Given the description of an element on the screen output the (x, y) to click on. 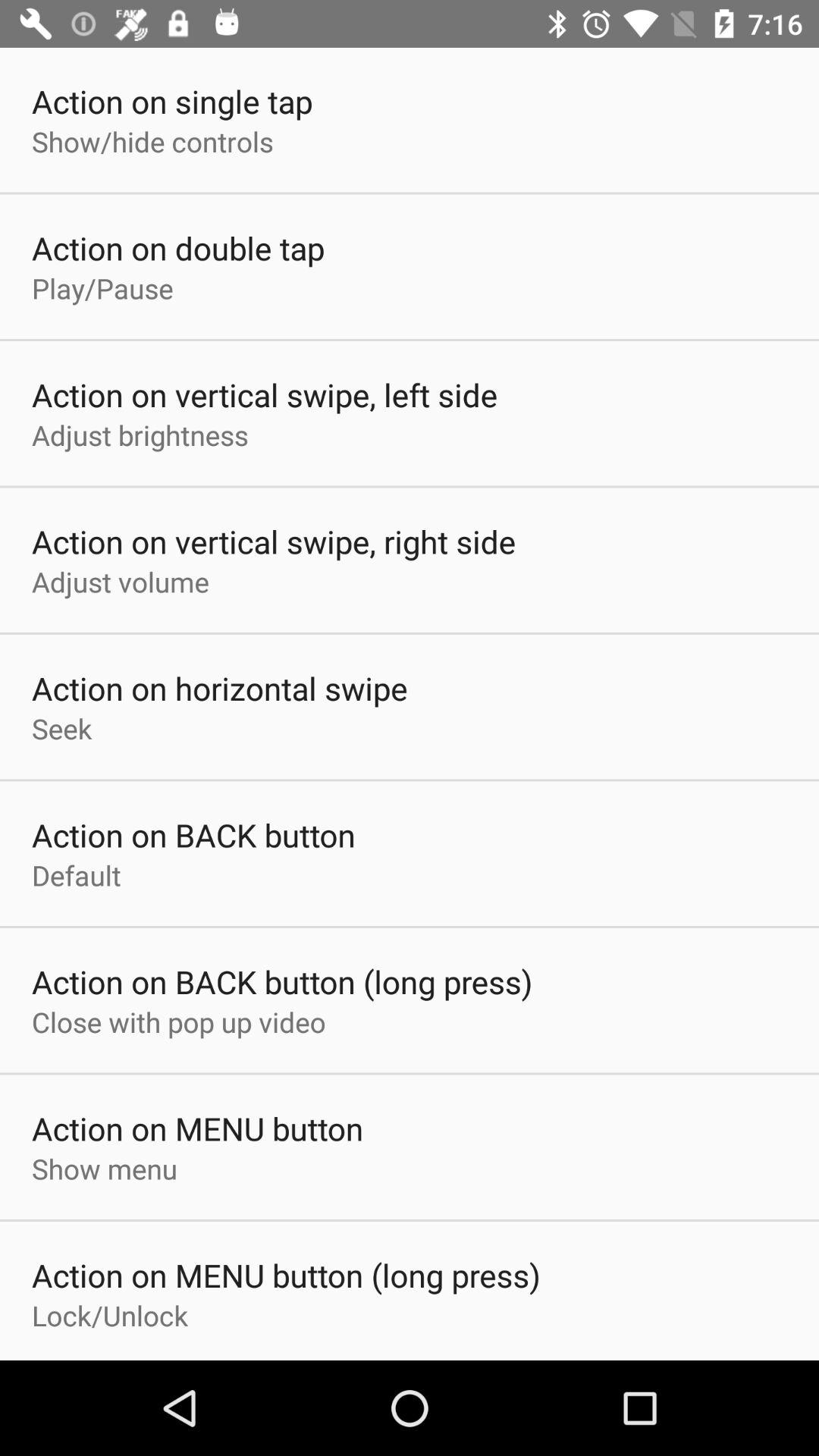
click the show/hide controls item (152, 141)
